Given the description of an element on the screen output the (x, y) to click on. 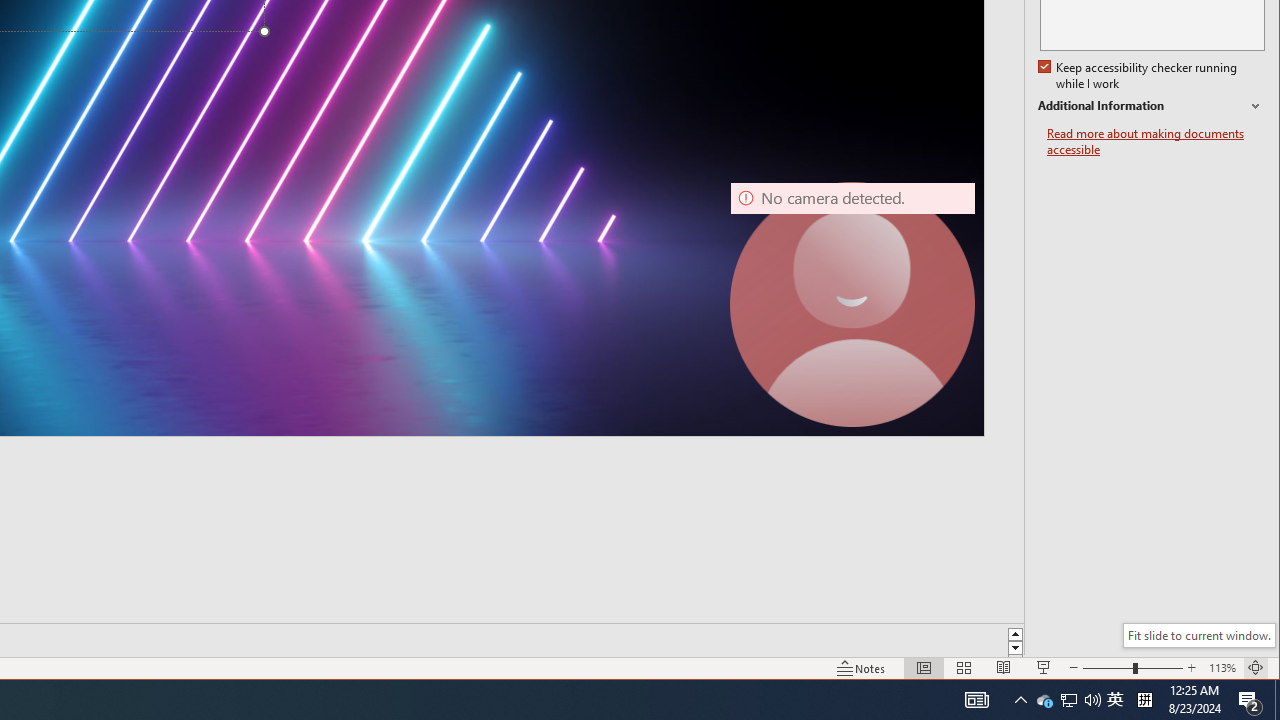
Keep accessibility checker running while I work (1044, 699)
Fit slide to current window. (1139, 76)
